Given the description of an element on the screen output the (x, y) to click on. 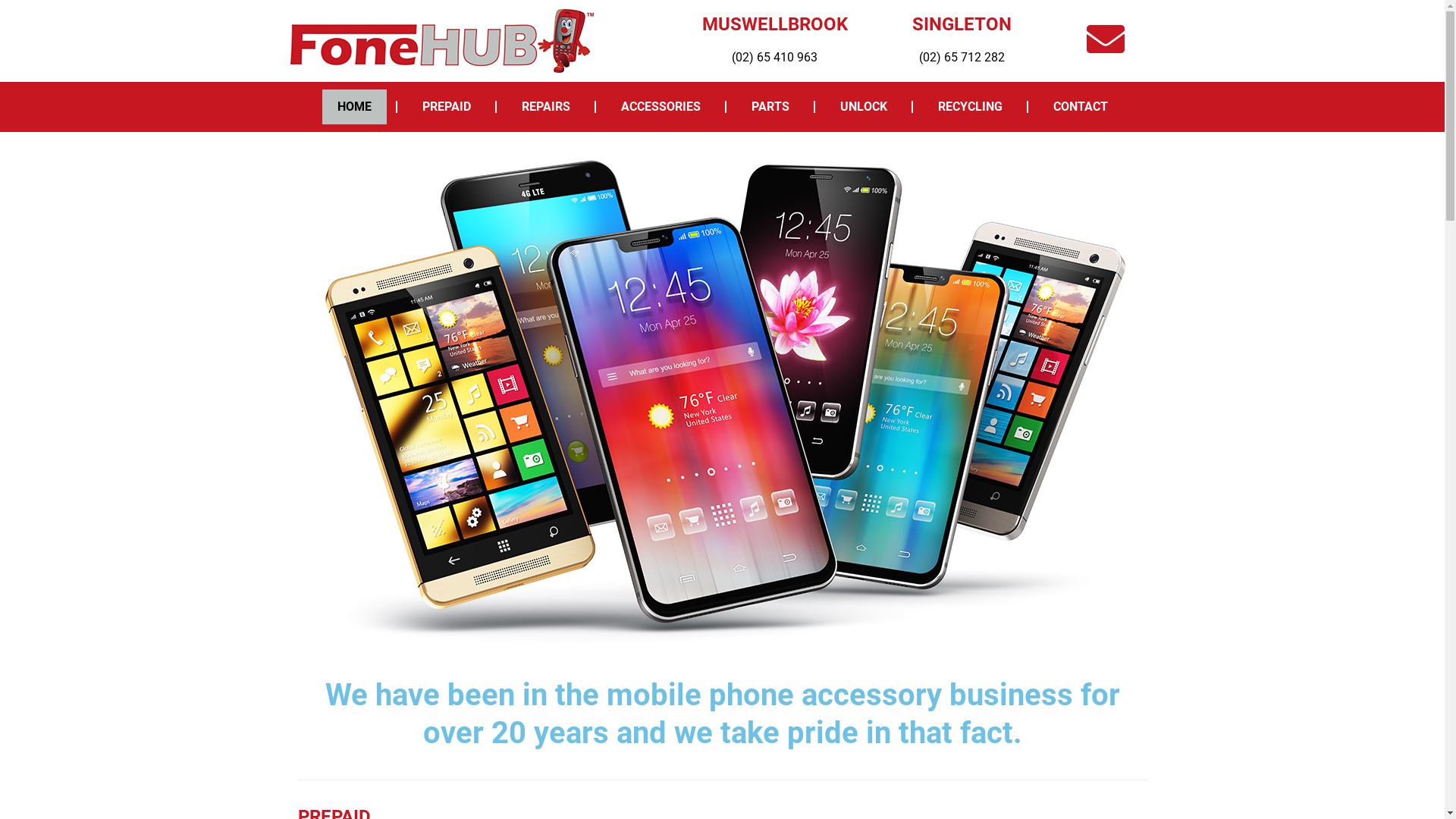
RECYCLING Element type: text (969, 106)
UNLOCK Element type: text (863, 106)
PARTS Element type: text (769, 106)
REPAIRS Element type: text (545, 106)
HOME Element type: text (353, 106)
PREPAID Element type: text (445, 106)
CONTACT Element type: text (1079, 106)
ACCESSORIES Element type: text (660, 106)
